Given the description of an element on the screen output the (x, y) to click on. 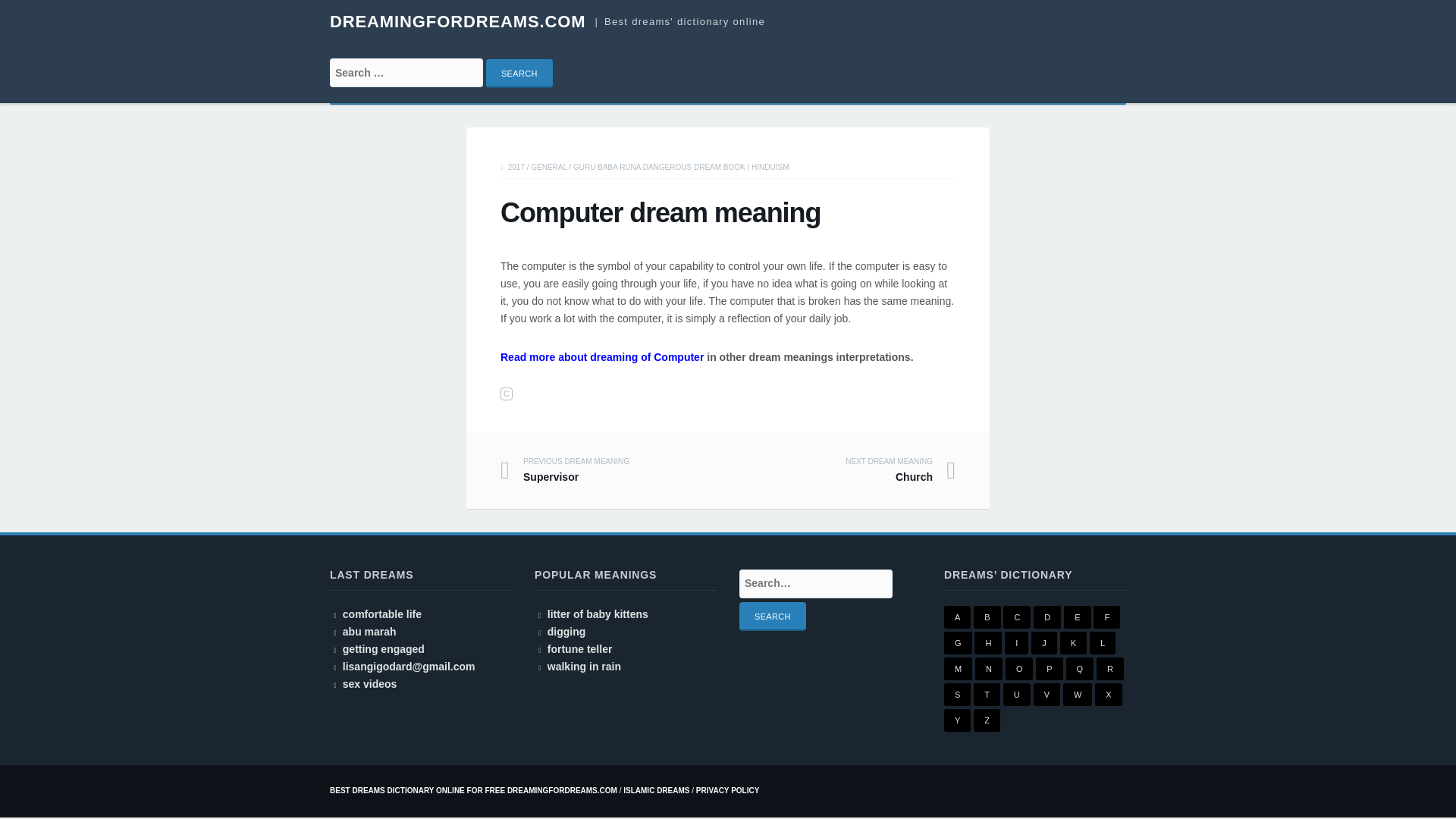
L (1102, 642)
litter of baby kittens (597, 613)
1,275 topics (957, 668)
C (506, 393)
sex videos (369, 684)
950 topics (1102, 642)
Search (519, 72)
953 topics (957, 642)
R (1110, 668)
Search (519, 72)
